Given the description of an element on the screen output the (x, y) to click on. 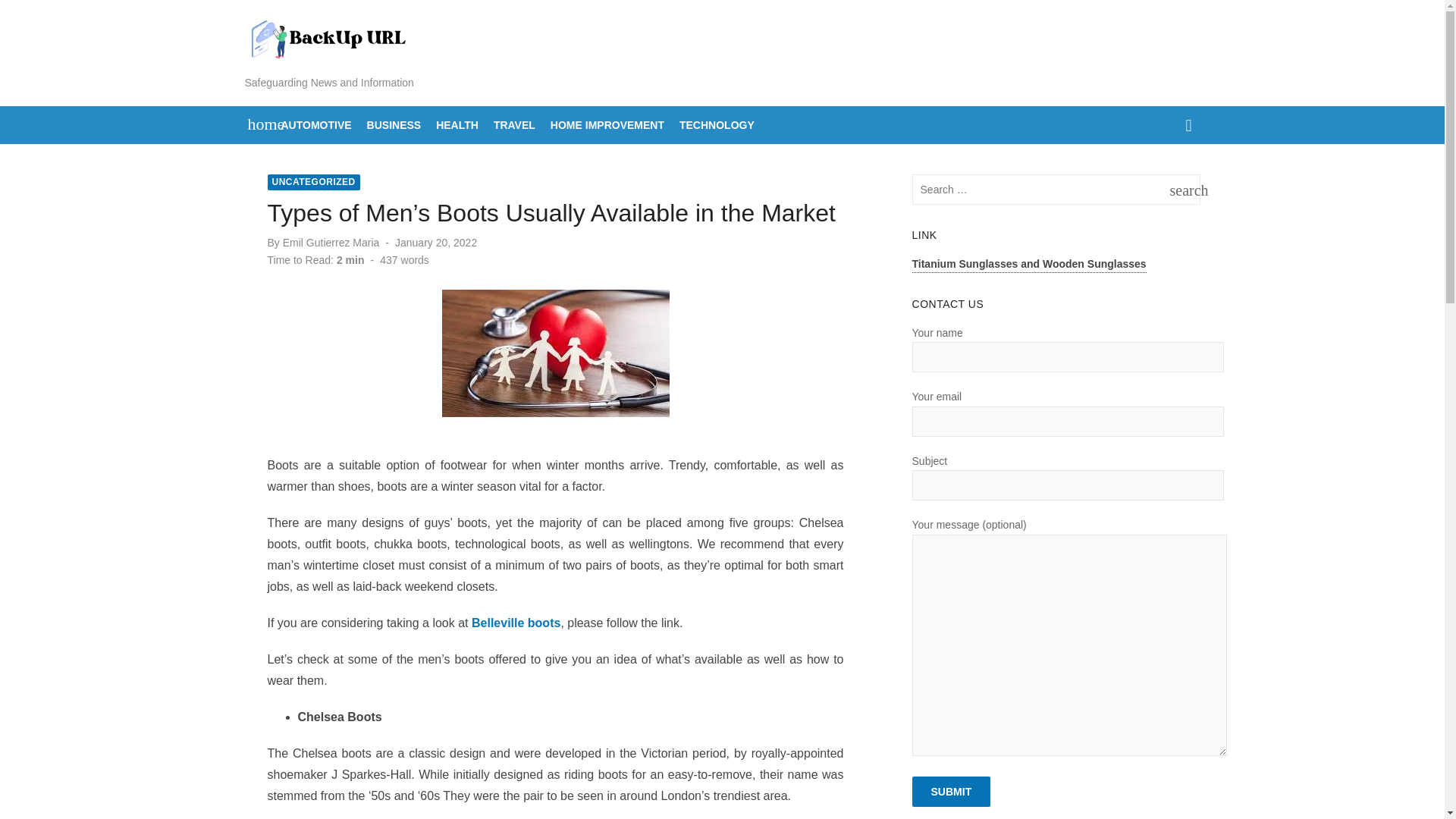
Submit (951, 791)
TRAVEL (1180, 189)
UNCATEGORIZED (514, 125)
Submit (312, 182)
AUTOMOTIVE (951, 791)
Belleville boots (315, 125)
home (515, 622)
HOME IMPROVEMENT (258, 123)
Titanium Sunglasses and Wooden Sunglasses (606, 125)
BUSINESS (1029, 264)
TECHNOLOGY (394, 125)
January 20, 2022 (717, 125)
HEALTH (435, 242)
Emil Gutierrez Maria (456, 125)
